Given the description of an element on the screen output the (x, y) to click on. 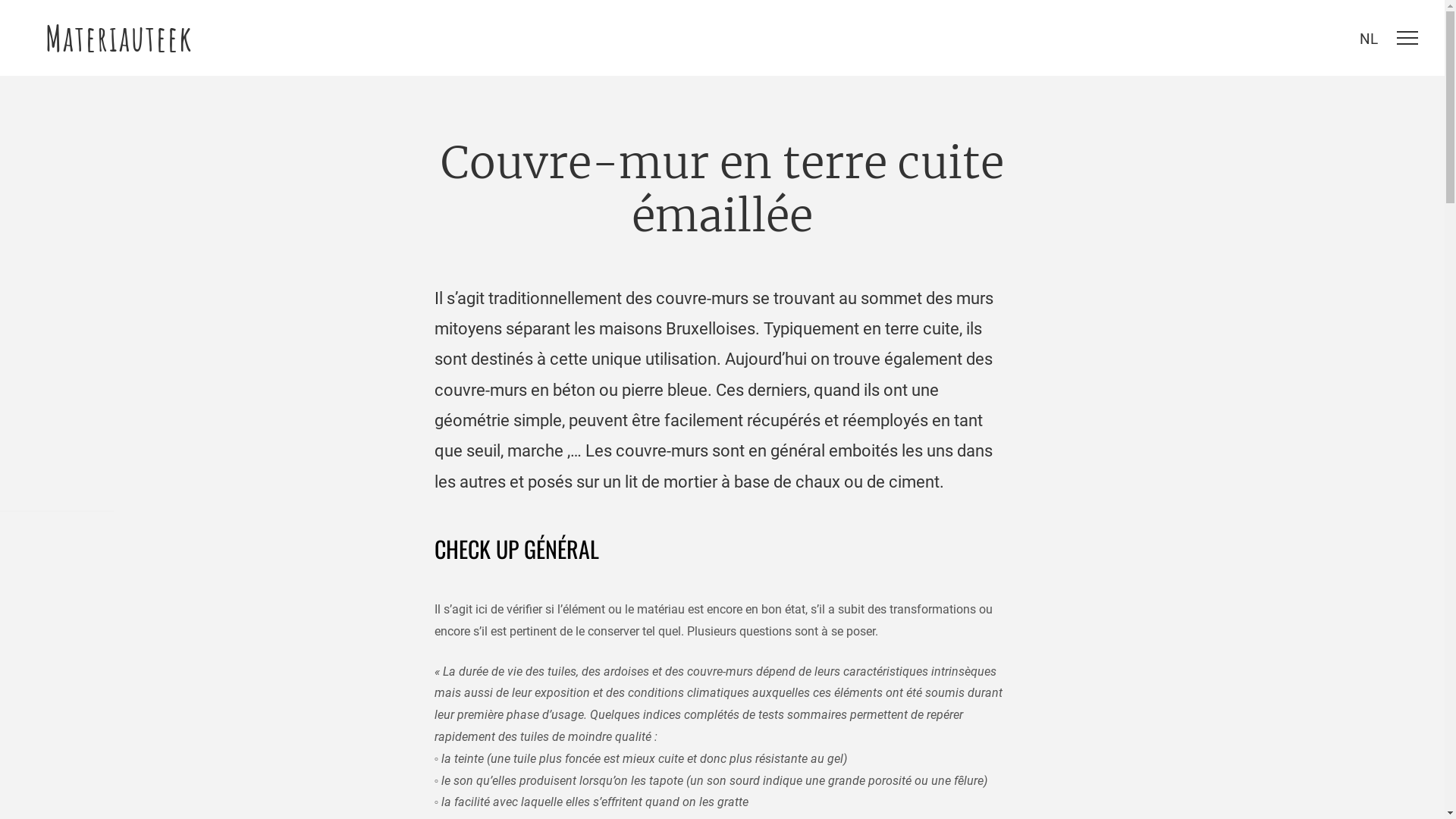
NL Element type: text (1368, 36)
Materiauteek Element type: text (118, 38)
